Given the description of an element on the screen output the (x, y) to click on. 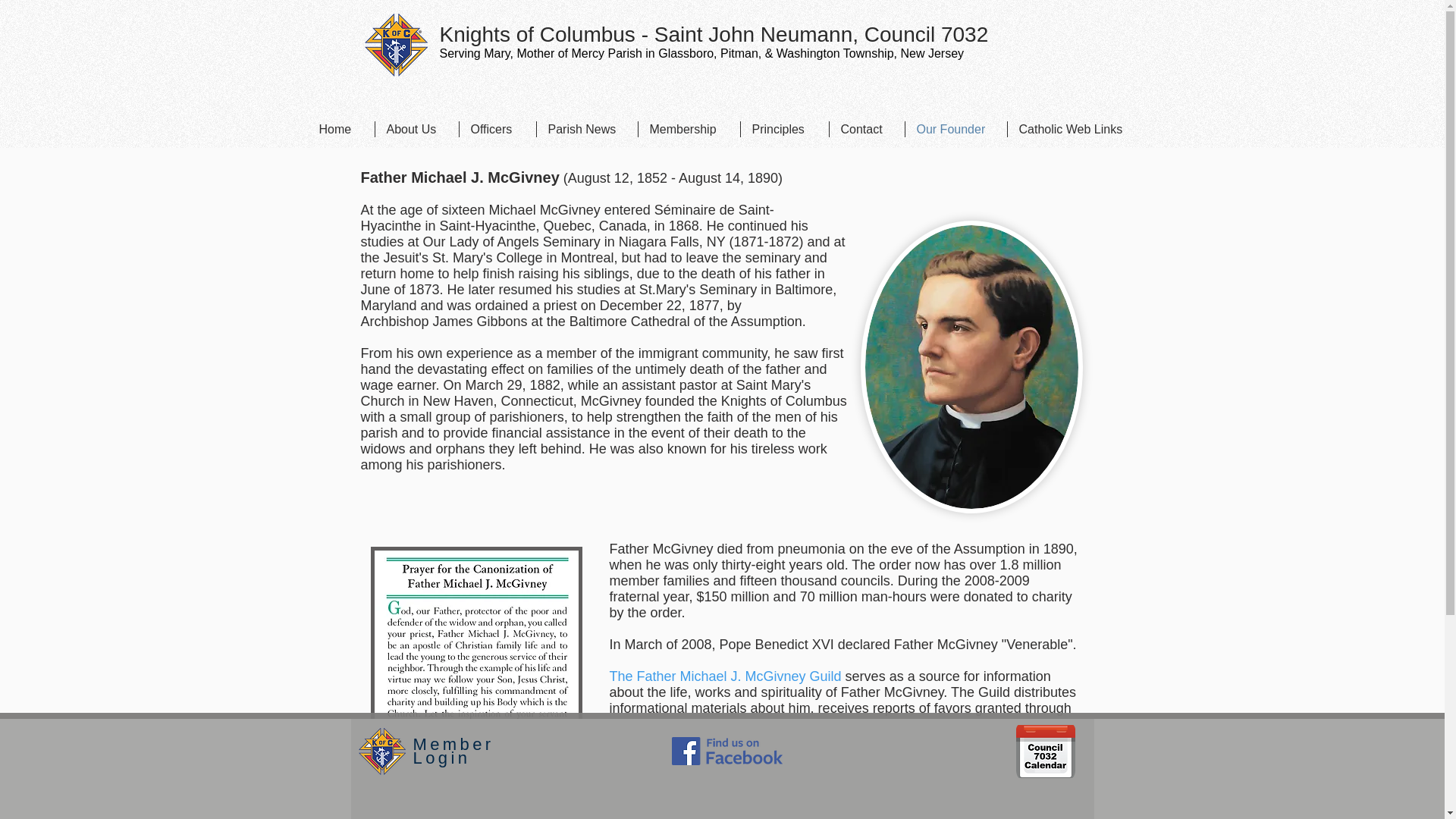
Our Founder (956, 129)
The Father Michael J. McGivney Guild (725, 676)
Catholic Web Links (1074, 129)
Officers (497, 129)
Principles (783, 129)
Home (340, 129)
Member (452, 743)
About Us (416, 129)
Contact (866, 129)
Parish News (587, 129)
Membership (689, 129)
Login (441, 757)
